Given the description of an element on the screen output the (x, y) to click on. 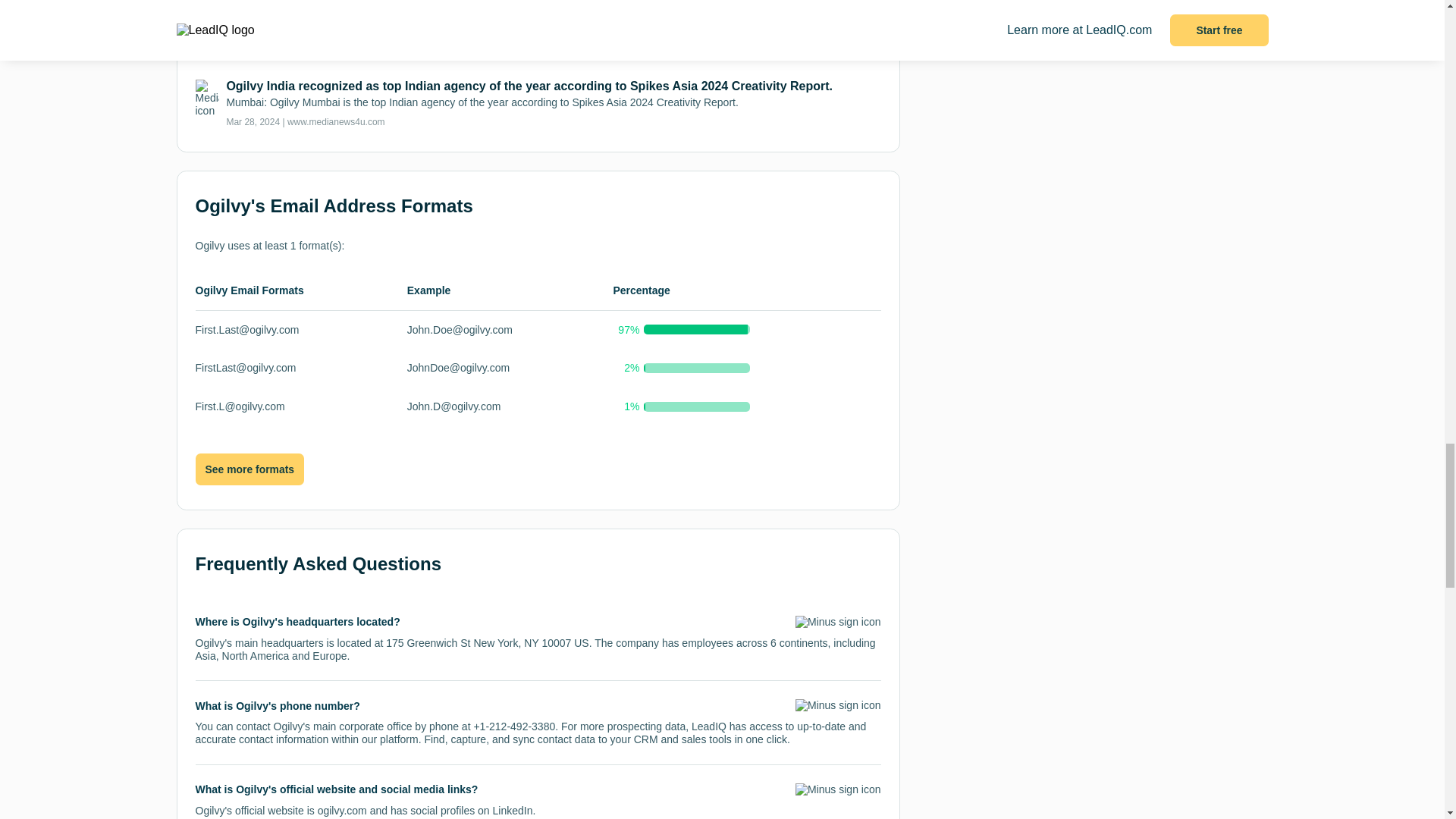
ogilvy.com (341, 810)
See more formats (249, 469)
LinkedIn (512, 810)
See more formats (249, 470)
